Given the description of an element on the screen output the (x, y) to click on. 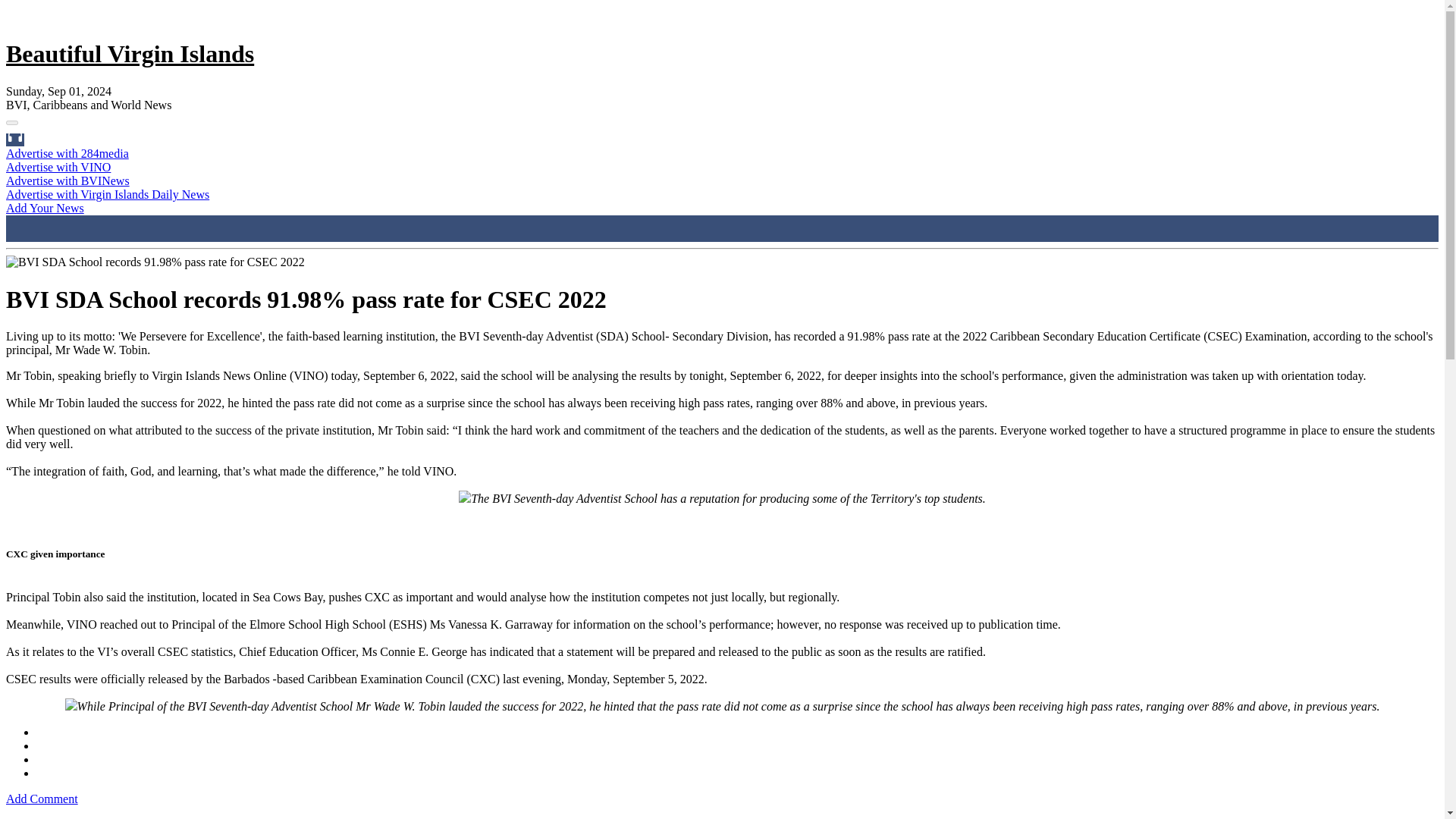
Advertise with VINO (57, 166)
Advertise with Virgin Islands Daily News (107, 194)
Beautiful Virgin Islands (129, 53)
Add Your News (44, 207)
Add Comment (41, 798)
Advertise with 284media (67, 153)
Advertise with BVINews (67, 180)
